Given the description of an element on the screen output the (x, y) to click on. 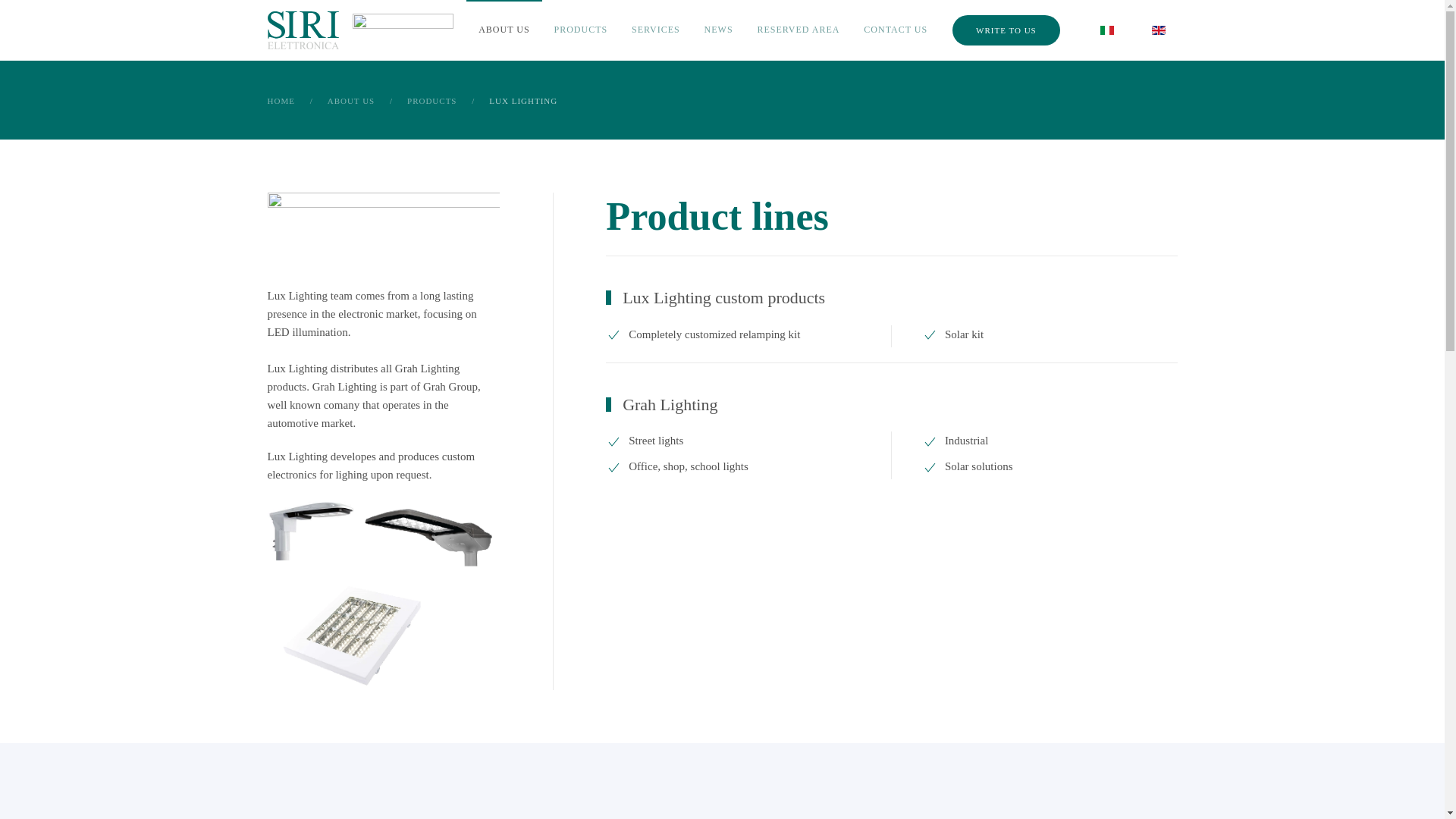
ABOUT US (503, 30)
HOME (280, 100)
ABOUT US (351, 100)
NEWS (719, 30)
CONTACT US (895, 30)
SERVICES (656, 30)
PRODUCTS (432, 100)
PRODUCTS (580, 30)
WRITE TO US (1005, 30)
RESERVED AREA (798, 30)
